Given the description of an element on the screen output the (x, y) to click on. 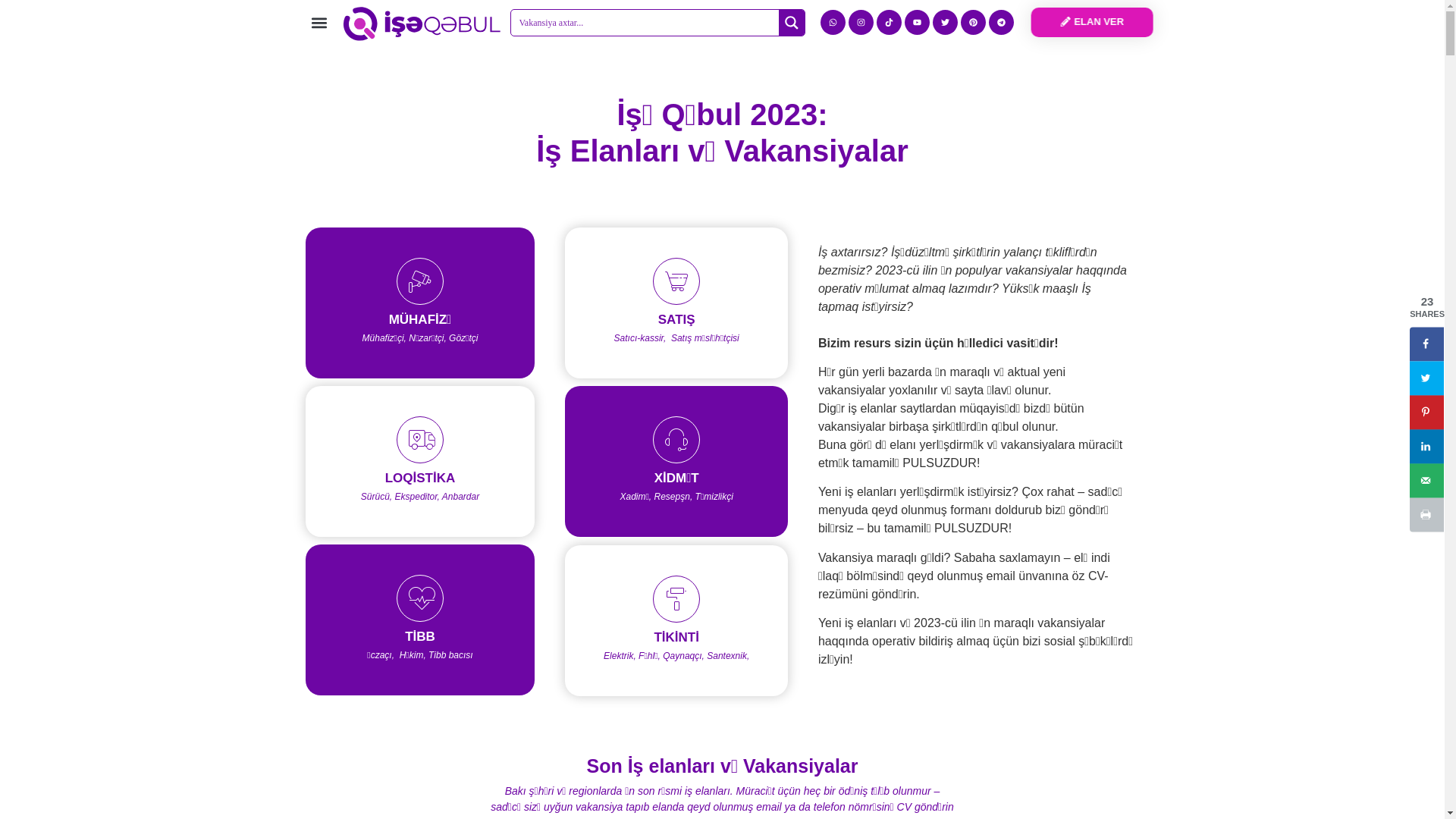
Send over email Element type: hover (1426, 480)
Share on LinkedIn Element type: hover (1426, 446)
Save to Pinterest Element type: hover (1426, 412)
Share on Facebook Element type: hover (1426, 343)
ELAN VER Element type: text (1091, 22)
Share on Twitter Element type: hover (1426, 377)
Print this webpage Element type: hover (1426, 514)
